Given the description of an element on the screen output the (x, y) to click on. 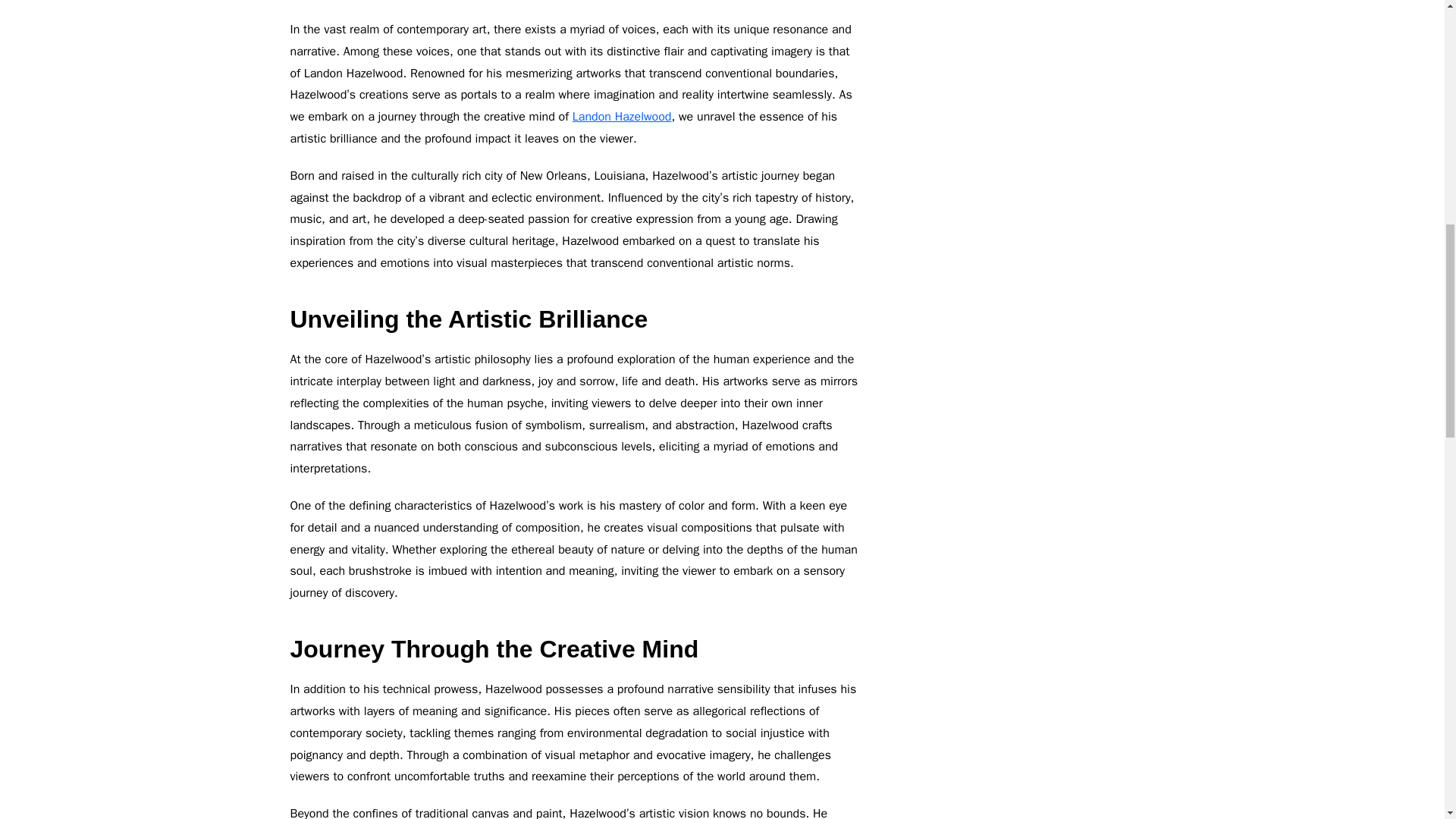
Landon Hazelwood (621, 116)
